Given the description of an element on the screen output the (x, y) to click on. 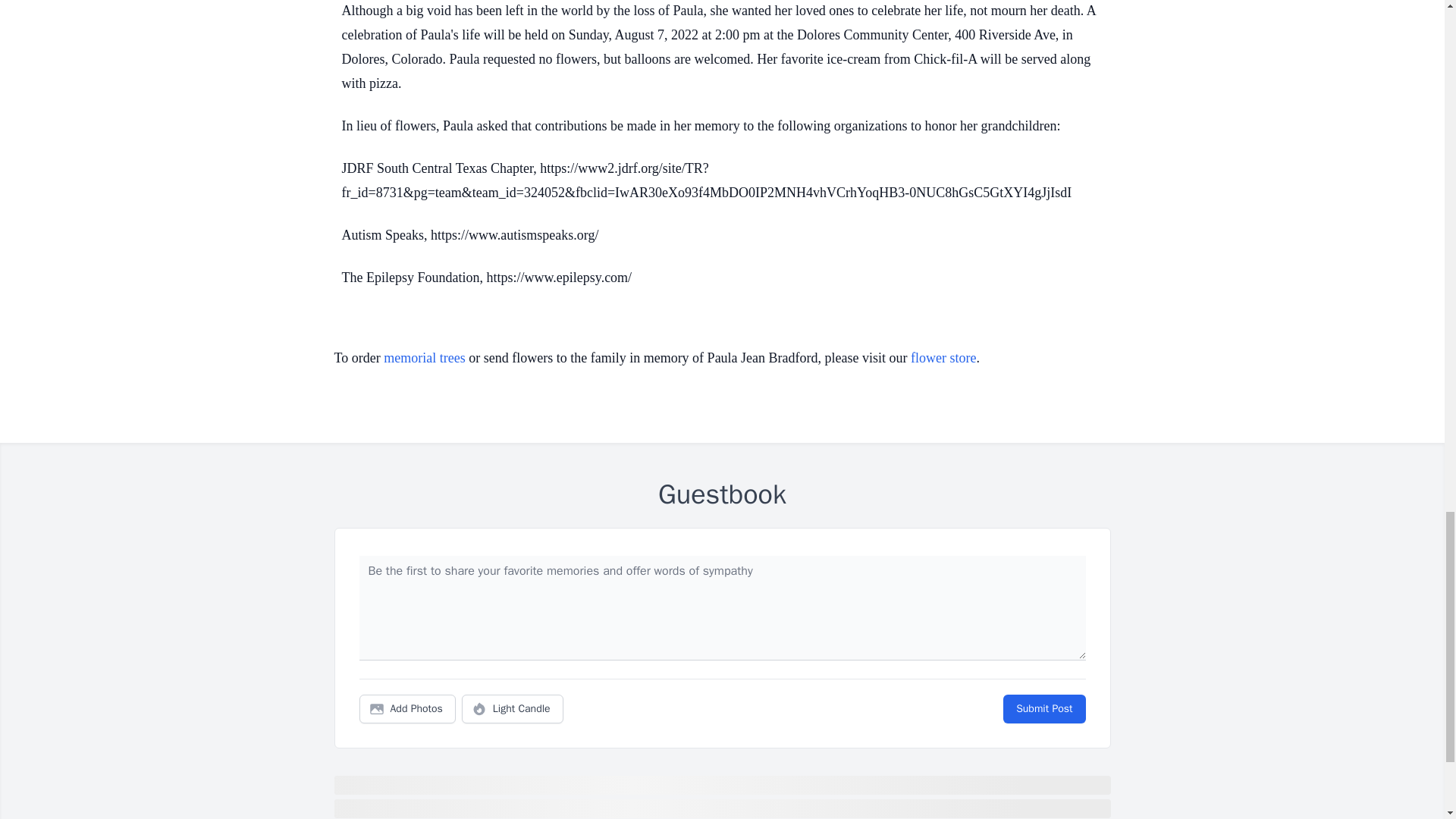
flower store (943, 357)
Add Photos (407, 708)
Light Candle (512, 708)
Submit Post (1043, 708)
memorial trees (424, 357)
